Given the description of an element on the screen output the (x, y) to click on. 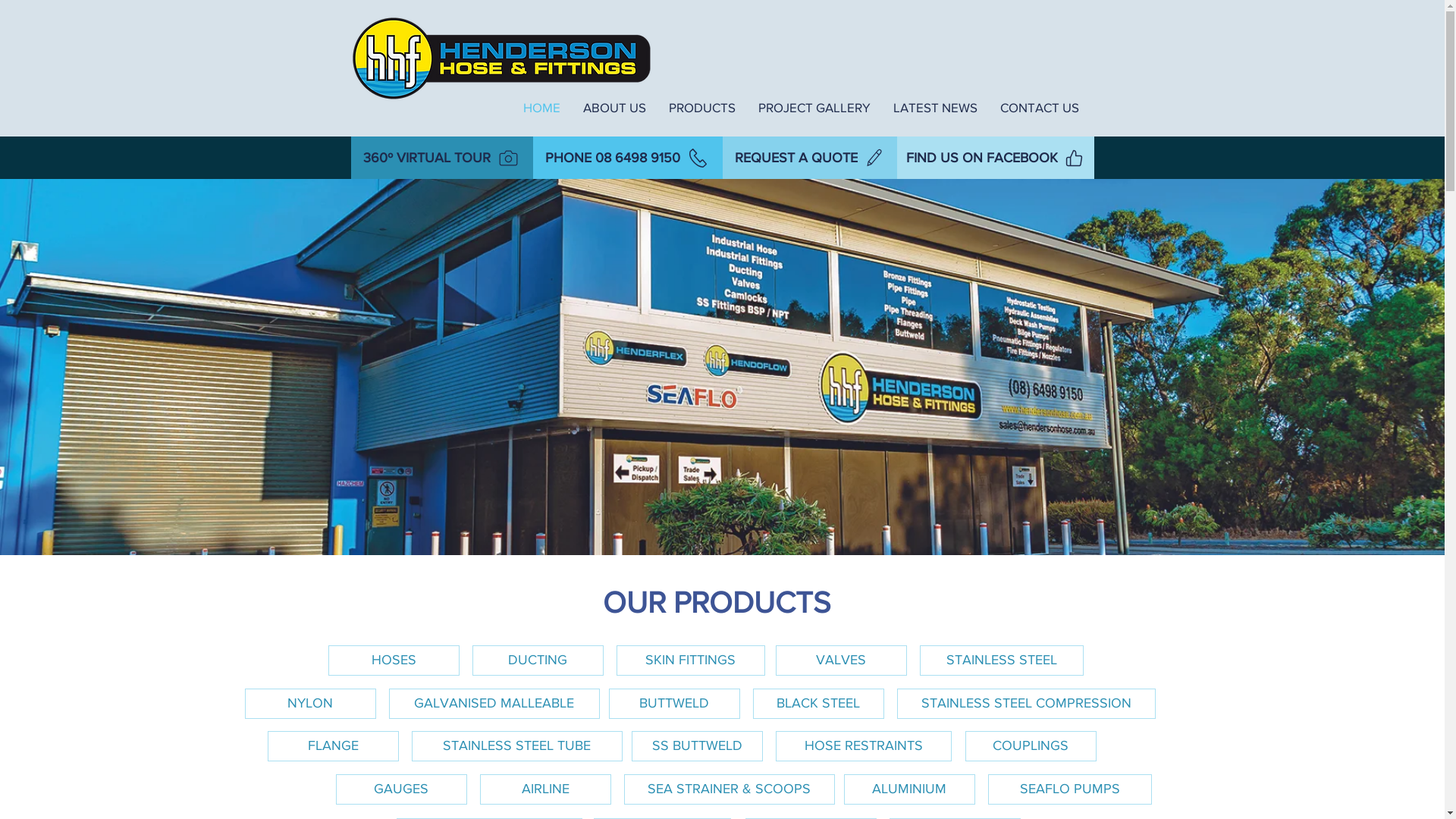
GAUGES Element type: text (400, 789)
FLANGE Element type: text (332, 746)
COUPLINGS Element type: text (1029, 746)
VALVES Element type: text (840, 660)
FIND US ON FACEBOOK Element type: text (994, 157)
REQUEST A QUOTE Element type: text (808, 157)
GALVANISED MALLEABLE Element type: text (493, 703)
LATEST NEWS Element type: text (934, 107)
CONTACT US Element type: text (1039, 107)
NYLON Element type: text (309, 703)
HOSES Element type: text (392, 660)
SEAFLO PUMPS Element type: text (1069, 789)
PHONE 08 6498 9150 Element type: text (626, 157)
SEA STRAINER & SCOOPS Element type: text (728, 789)
SKIN FITTINGS Element type: text (689, 660)
HOME Element type: text (541, 107)
DUCTING Element type: text (536, 660)
SS BUTTWELD Element type: text (696, 746)
HOSE RESTRAINTS Element type: text (862, 746)
AIRLINE Element type: text (544, 789)
STAINLESS STEEL TUBE Element type: text (516, 746)
PRODUCTS Element type: text (701, 107)
ALUMINIUM Element type: text (908, 789)
BUTTWELD Element type: text (673, 703)
PROJECT GALLERY Element type: text (813, 107)
ABOUT US Element type: text (614, 107)
STAINLESS STEEL Element type: text (1000, 660)
BLACK STEEL Element type: text (817, 703)
STAINLESS STEEL COMPRESSION Element type: text (1025, 703)
